Given the description of an element on the screen output the (x, y) to click on. 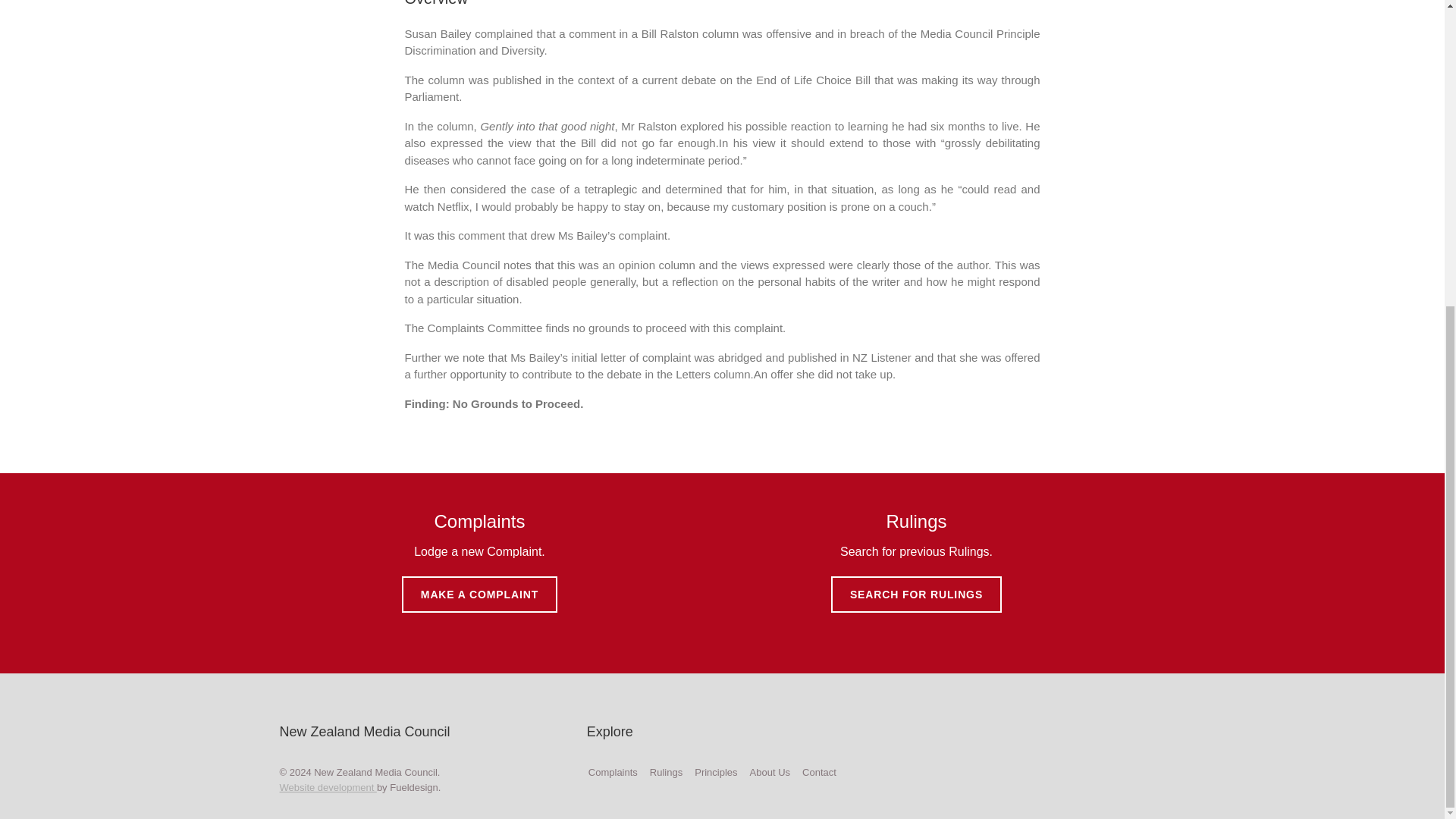
MAKE A COMPLAINT (479, 594)
Website development (327, 787)
Contact Press Council (818, 772)
Contact (818, 772)
The Standards We Apply (715, 772)
Rulings (665, 772)
Complaints (612, 772)
Search for Rulings (665, 772)
About Us (769, 772)
Principles (715, 772)
